Given the description of an element on the screen output the (x, y) to click on. 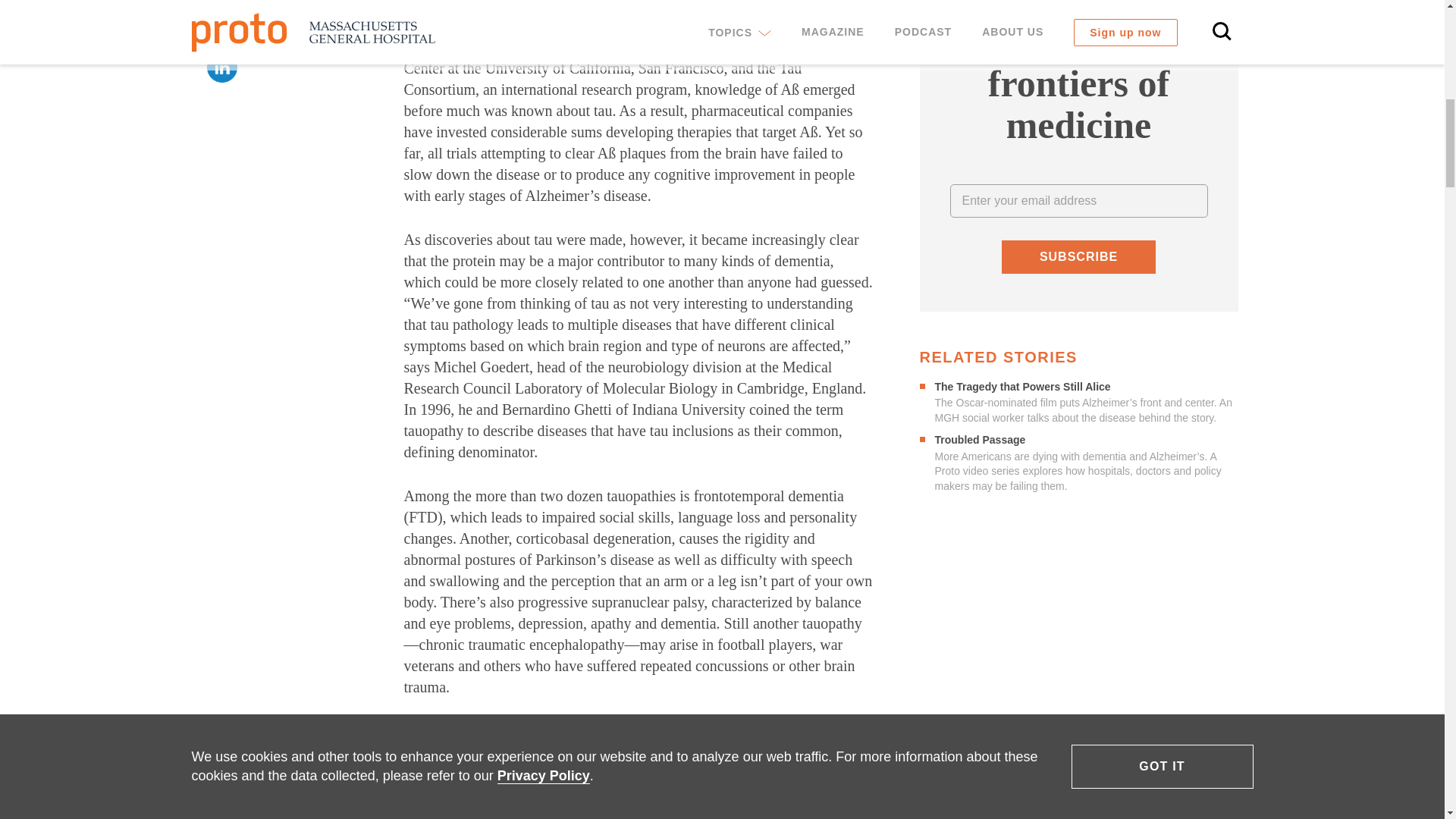
Share on Facebook (220, 3)
Share on LinkedIn (220, 67)
Tweet (220, 29)
Subscribe (1078, 256)
